Given the description of an element on the screen output the (x, y) to click on. 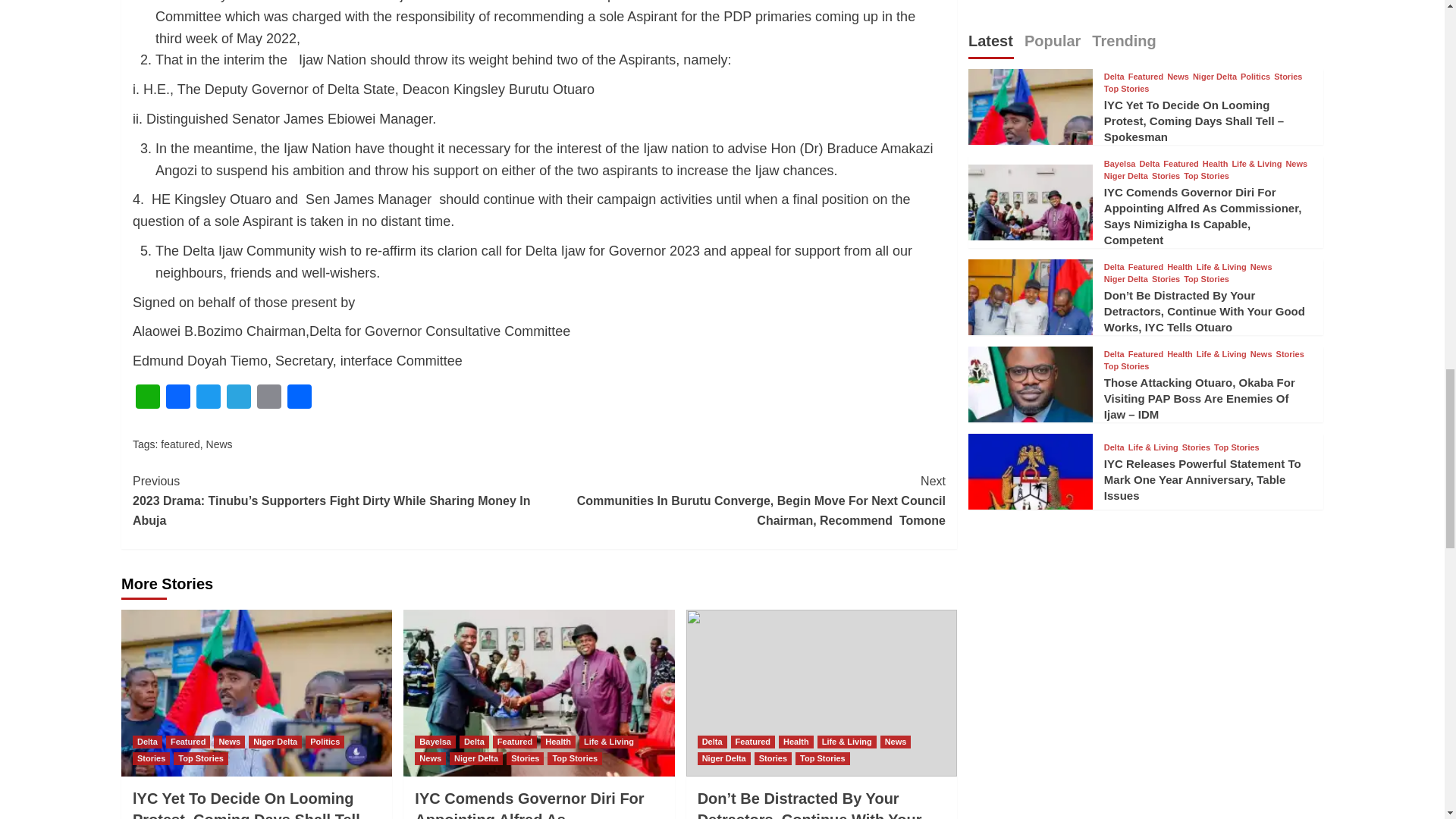
Email (268, 398)
Telegram (238, 398)
Twitter (208, 398)
WhatsApp (147, 398)
Facebook (178, 398)
